Given the description of an element on the screen output the (x, y) to click on. 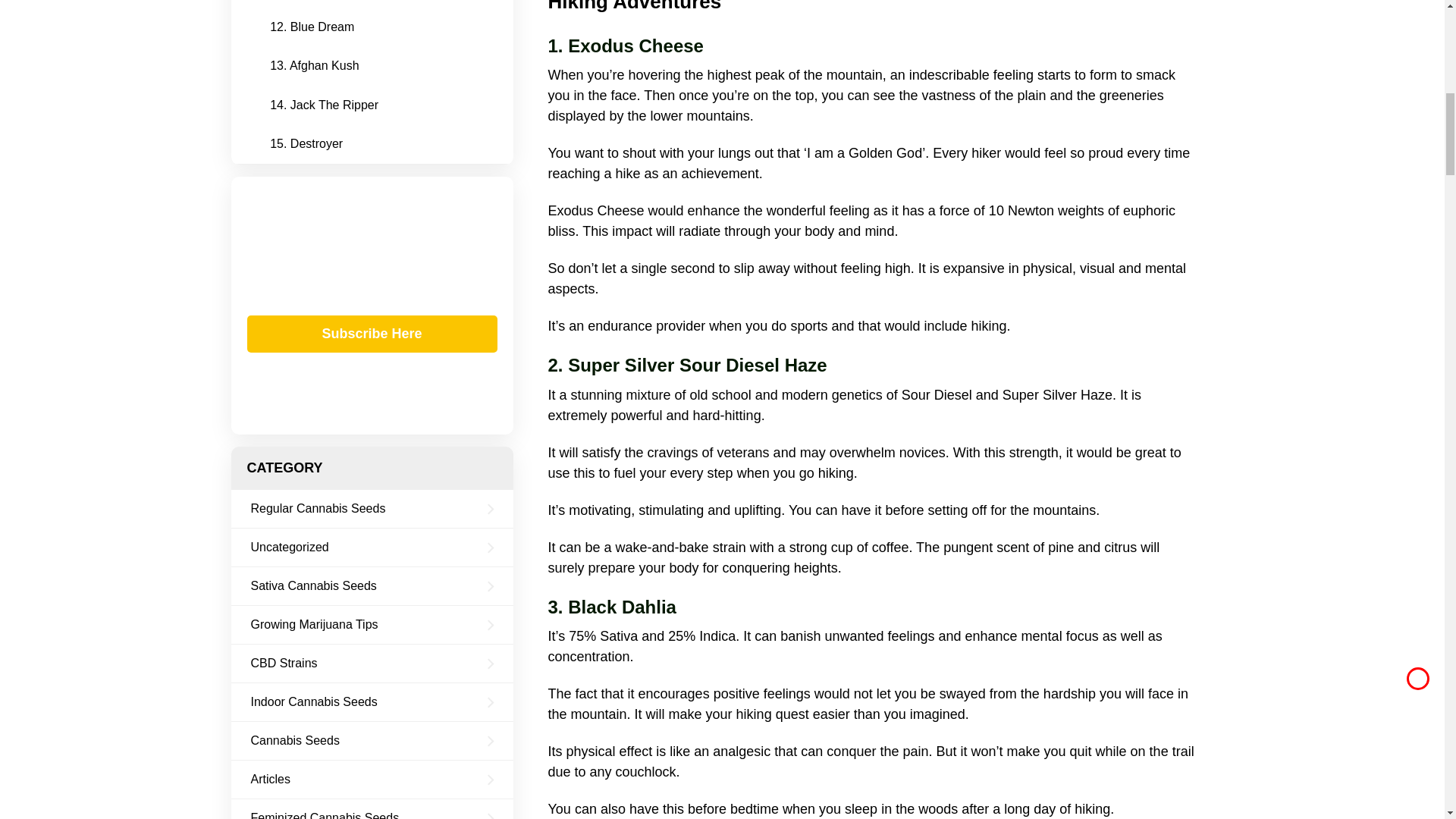
12. Blue Dream (317, 26)
11. Orange Crush (323, 3)
